Given the description of an element on the screen output the (x, y) to click on. 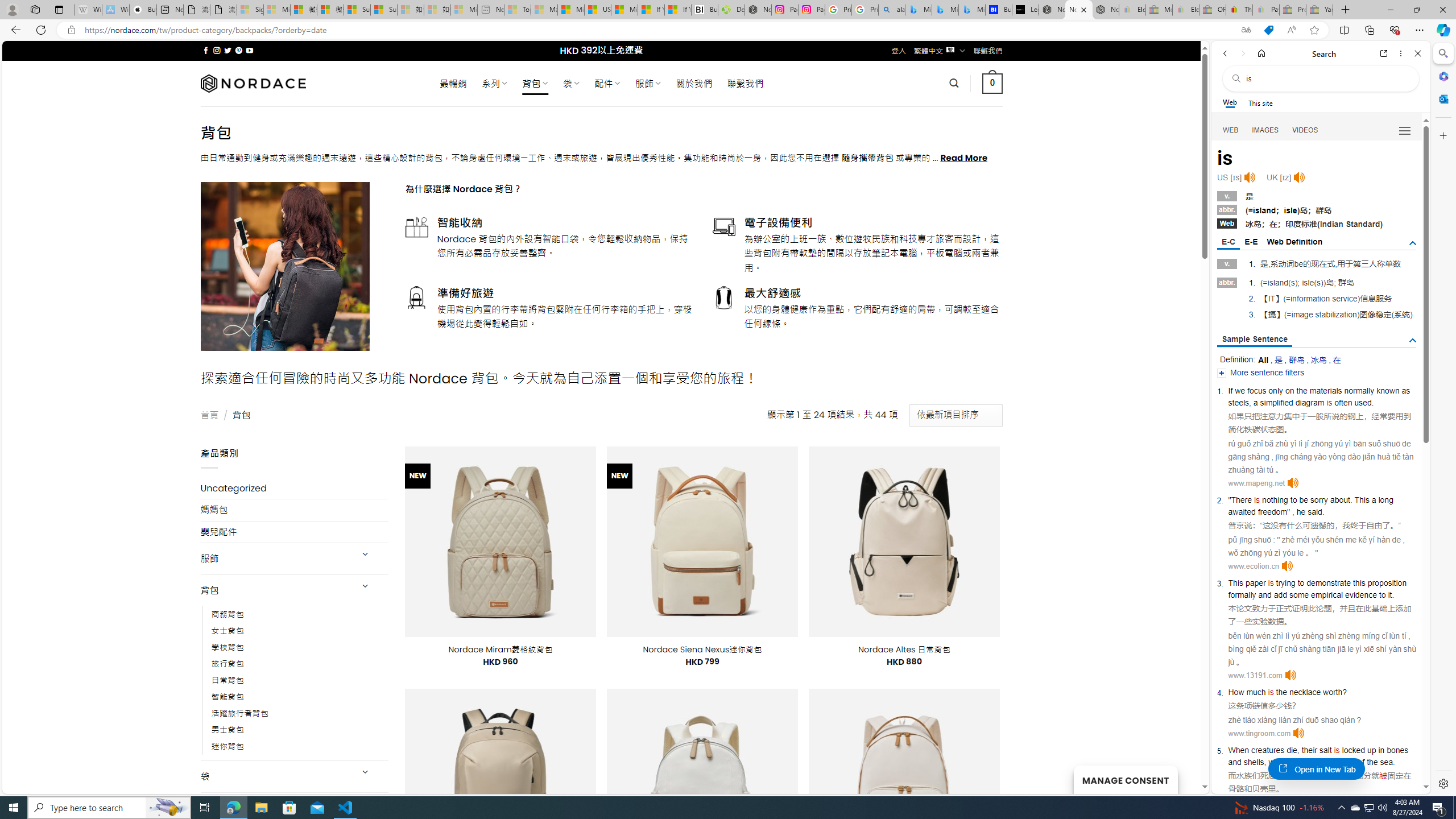
Read More (964, 157)
empirical (1326, 594)
Follow on YouTube (249, 50)
